Given the description of an element on the screen output the (x, y) to click on. 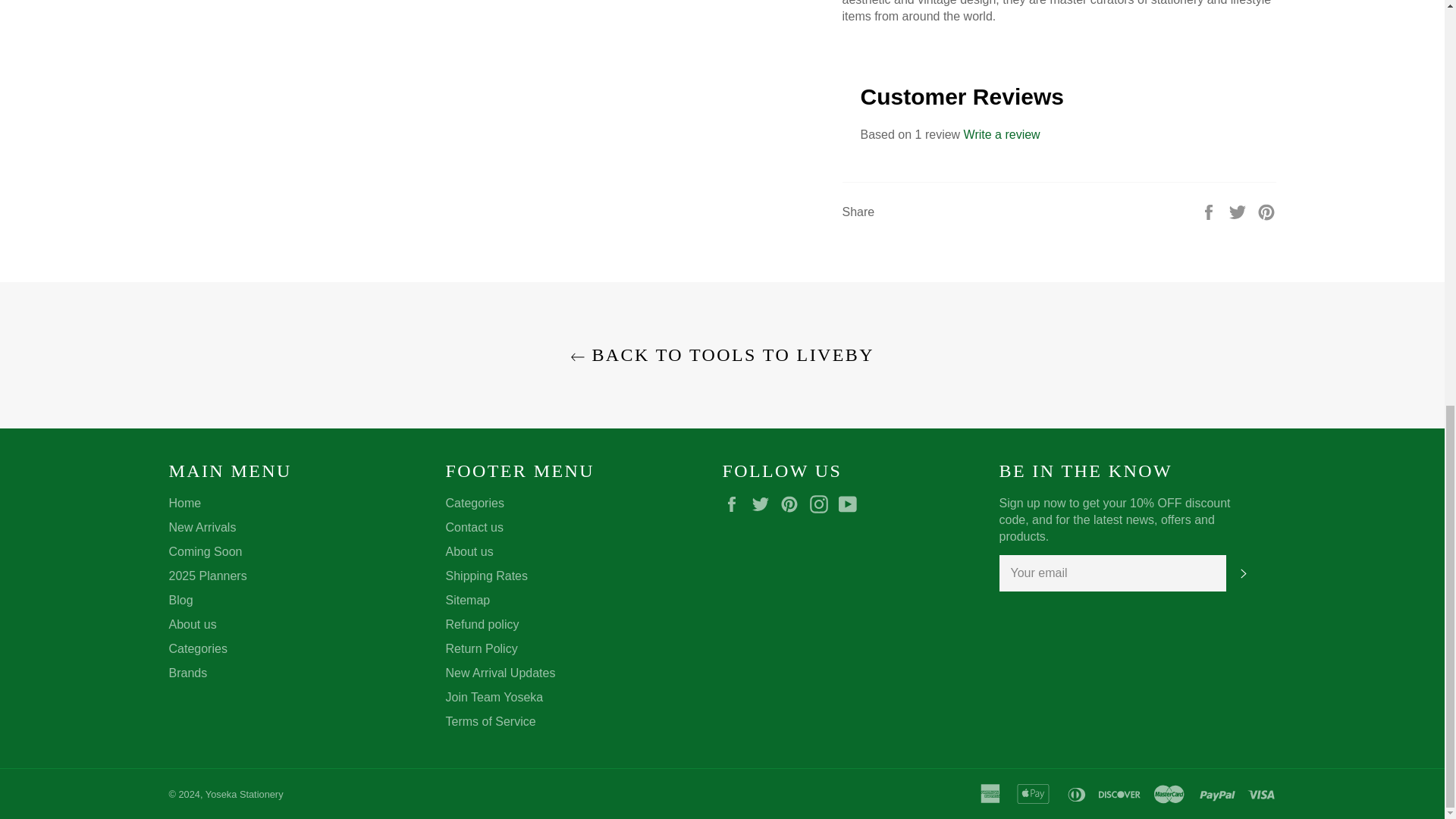
Yoseka Stationery on YouTube (851, 504)
Yoseka Stationery on Facebook (735, 504)
Yoseka Stationery on Twitter (764, 504)
Pin on Pinterest (1266, 211)
Share on Facebook (1210, 211)
Yoseka Stationery on Pinterest (793, 504)
Tweet on Twitter (1238, 211)
Yoseka Stationery on Instagram (822, 504)
